Given the description of an element on the screen output the (x, y) to click on. 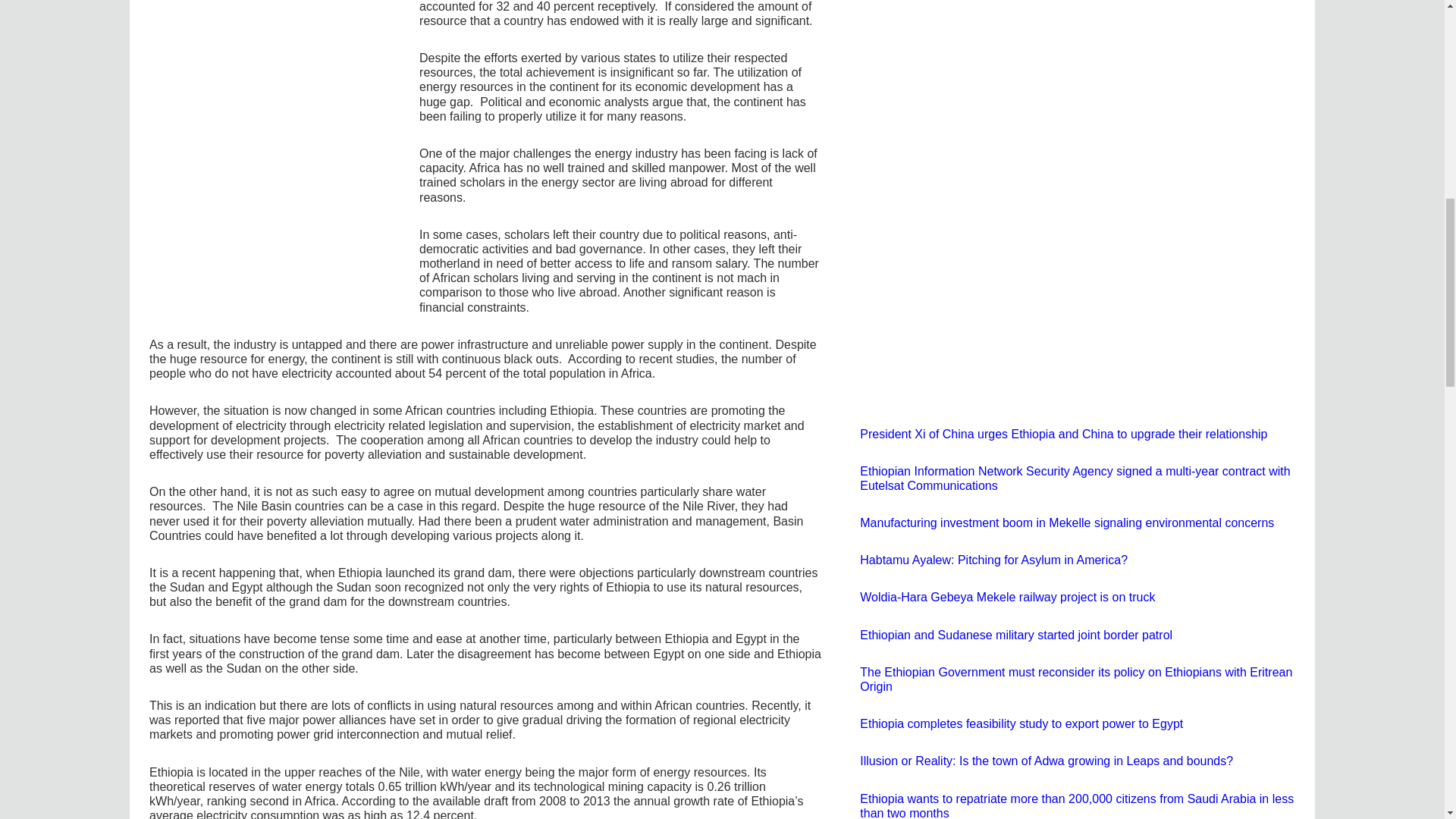
Woldia-Hara Gebeya Mekele railway project is on truck (1007, 596)
Advertisement (268, 207)
Habtamu Ayalew: Pitching for Asylum in America? (993, 559)
Ethiopian and Sudanese military started joint border patrol (1016, 634)
